Given the description of an element on the screen output the (x, y) to click on. 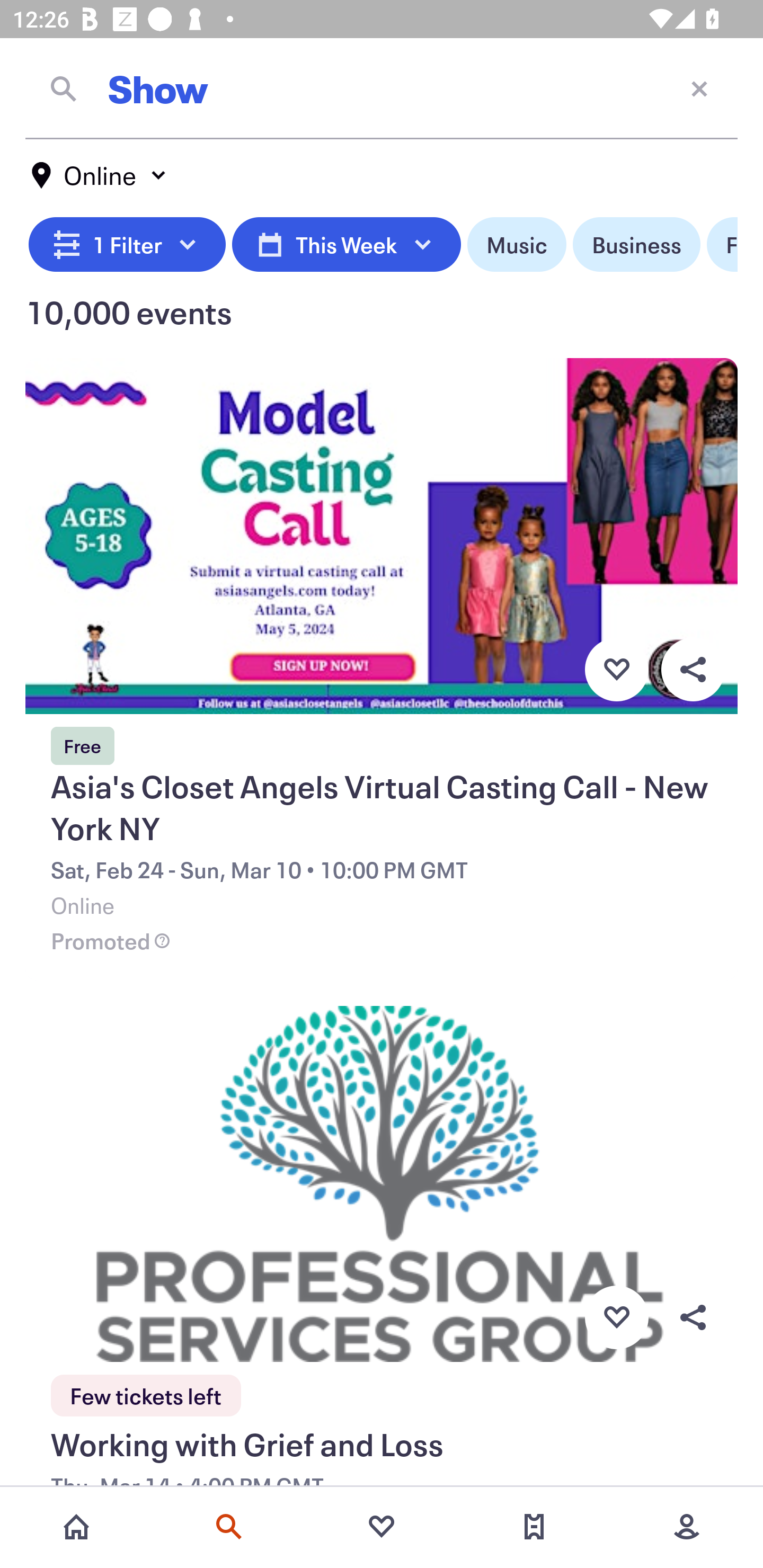
Show Close current screen (381, 88)
Close current screen (699, 88)
Online (99, 175)
1 Filter (126, 244)
This Week (345, 244)
Music (516, 244)
Business (636, 244)
Favorite button (616, 669)
Overflow menu button (692, 669)
Favorite button (616, 1317)
Overflow menu button (692, 1317)
Home (76, 1526)
Search events (228, 1526)
Favorites (381, 1526)
Tickets (533, 1526)
More (686, 1526)
